Given the description of an element on the screen output the (x, y) to click on. 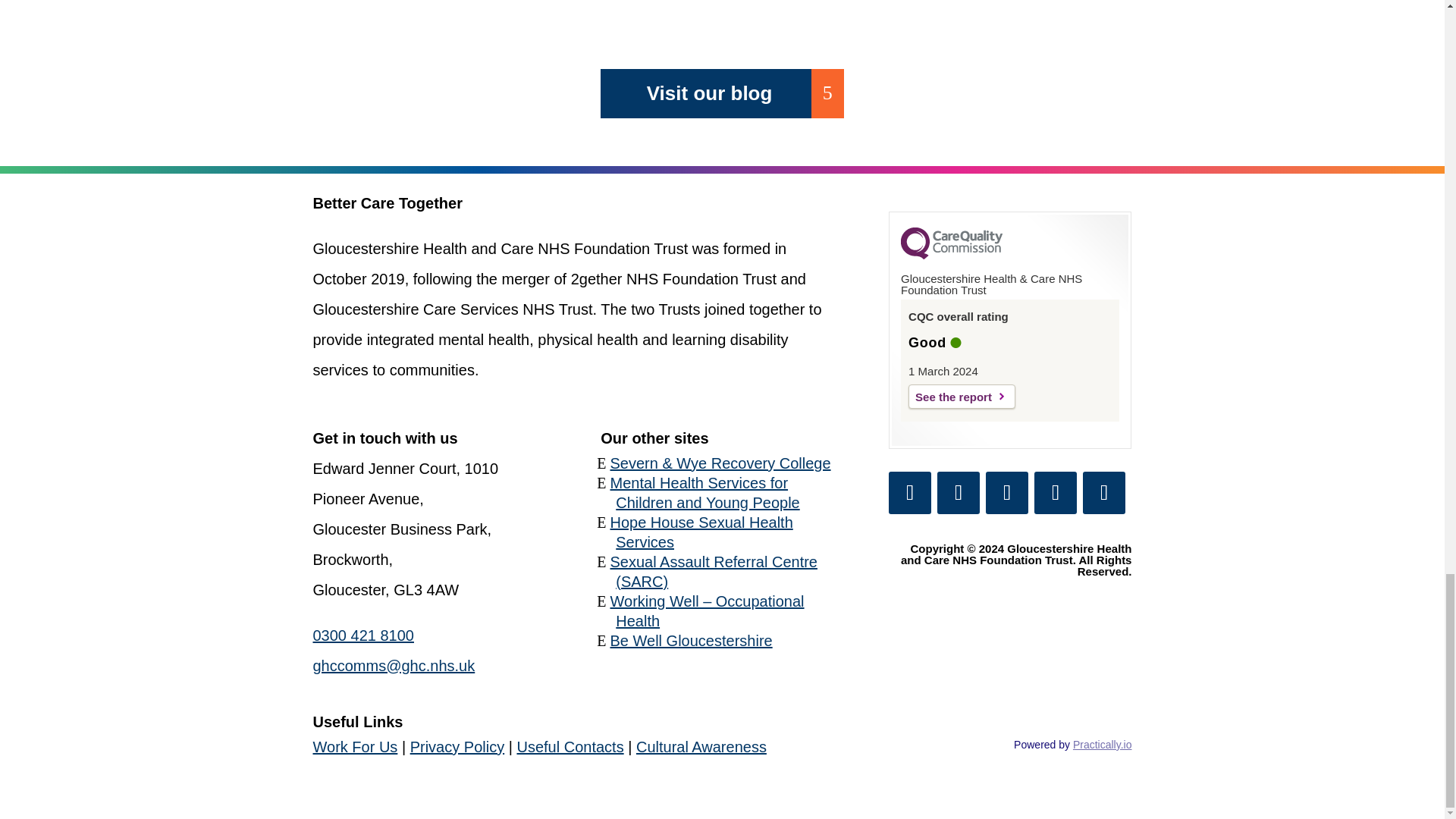
Follow on YouTube (1104, 492)
Follow on X (958, 492)
Follow on LinkedIn (1006, 492)
Follow on Instagram (1055, 492)
CQC Logo (952, 255)
Follow on Facebook (909, 492)
